Given the description of an element on the screen output the (x, y) to click on. 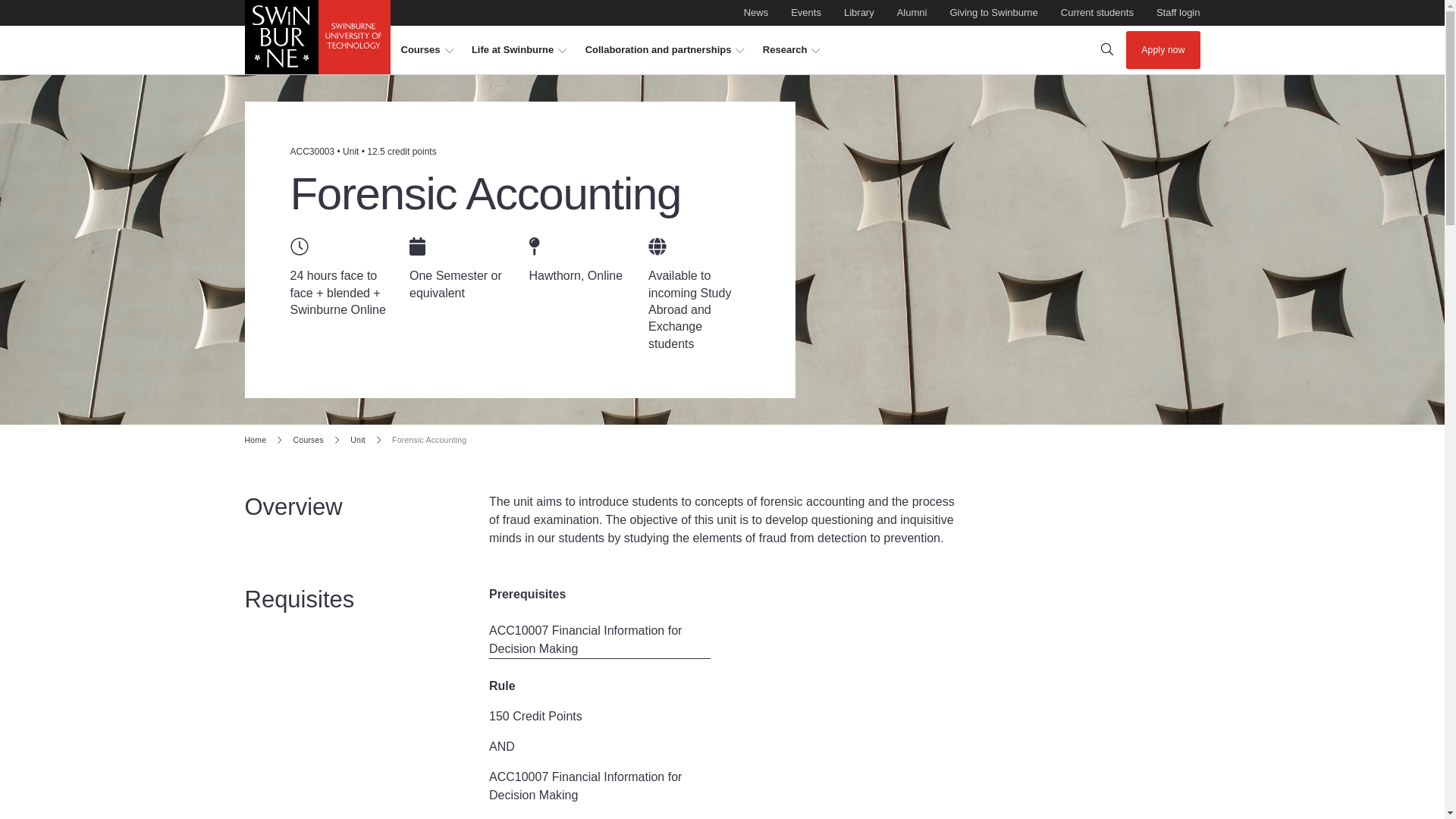
Events (805, 13)
News (756, 13)
toggle Courses menu (426, 49)
Alumni (911, 13)
Current students (1097, 13)
Library (859, 13)
Staff login (426, 49)
News (1177, 13)
Library (756, 13)
Giving to Swinburne (859, 13)
Giving to Swinburne (992, 13)
Staff login (992, 13)
Current students (1177, 13)
Alumni (1097, 13)
